Given the description of an element on the screen output the (x, y) to click on. 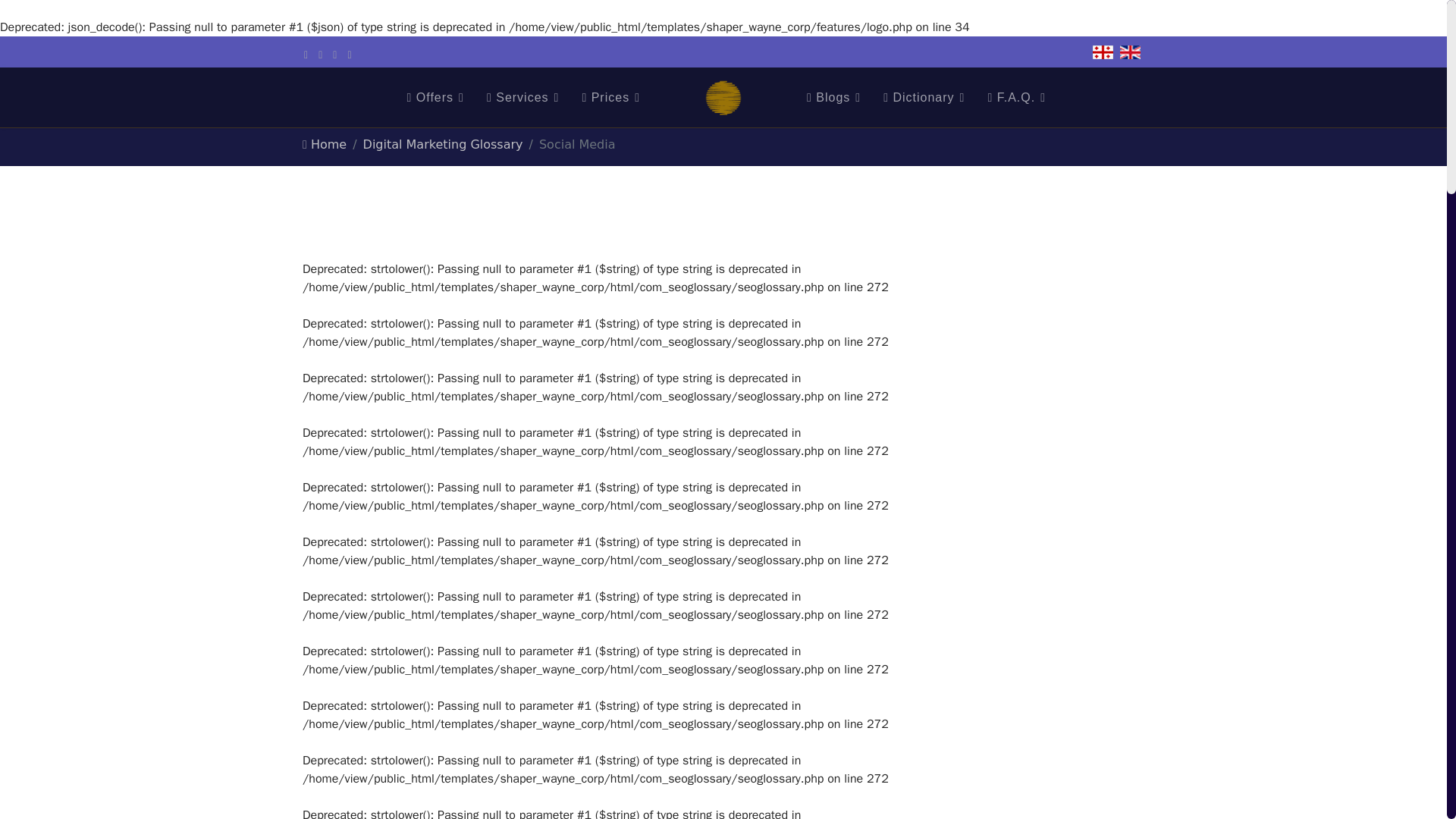
 Home (326, 144)
Digital Marketing Glossary (442, 144)
